Given the description of an element on the screen output the (x, y) to click on. 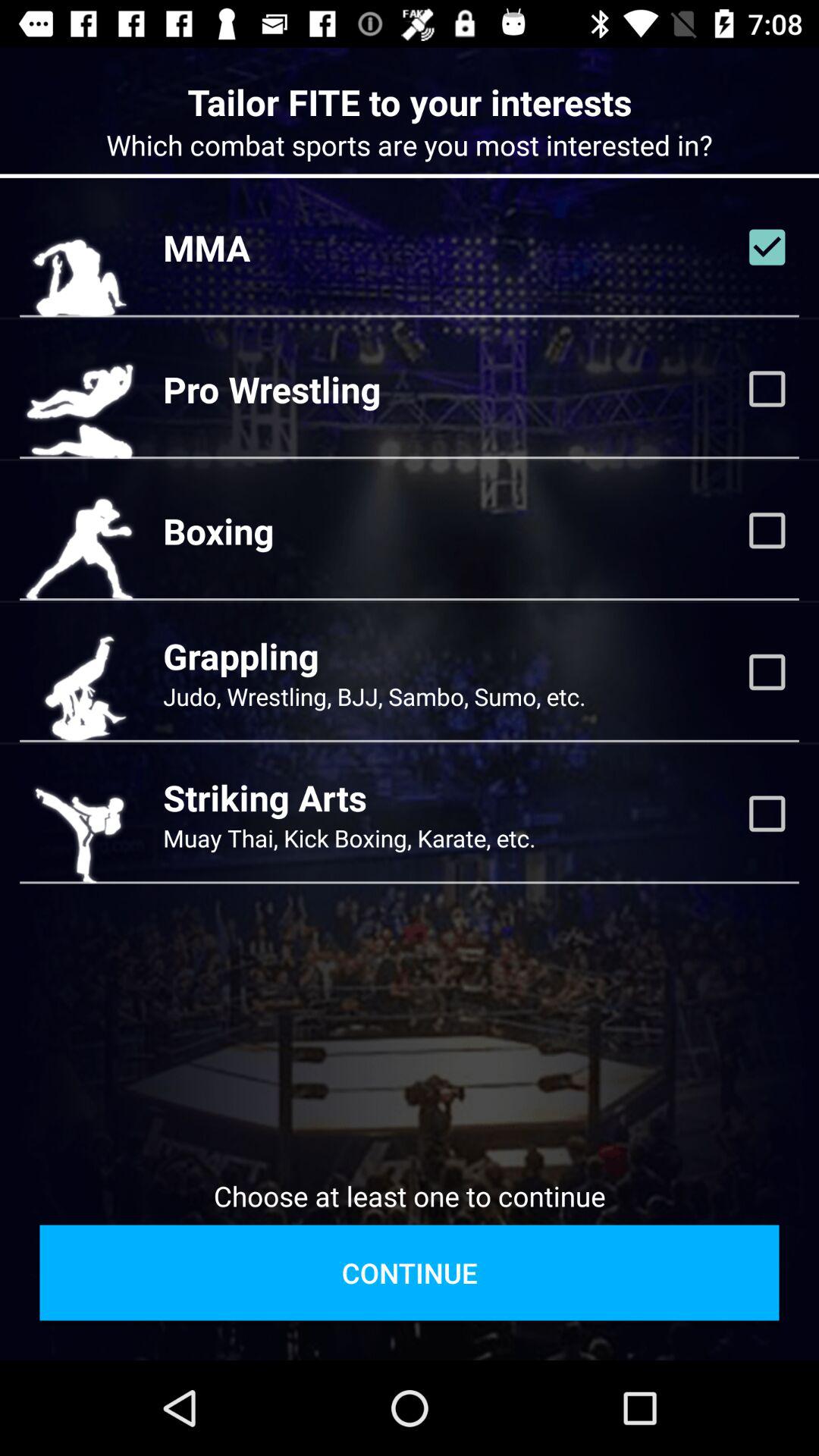
pro wrestling checkbox (767, 388)
